Given the description of an element on the screen output the (x, y) to click on. 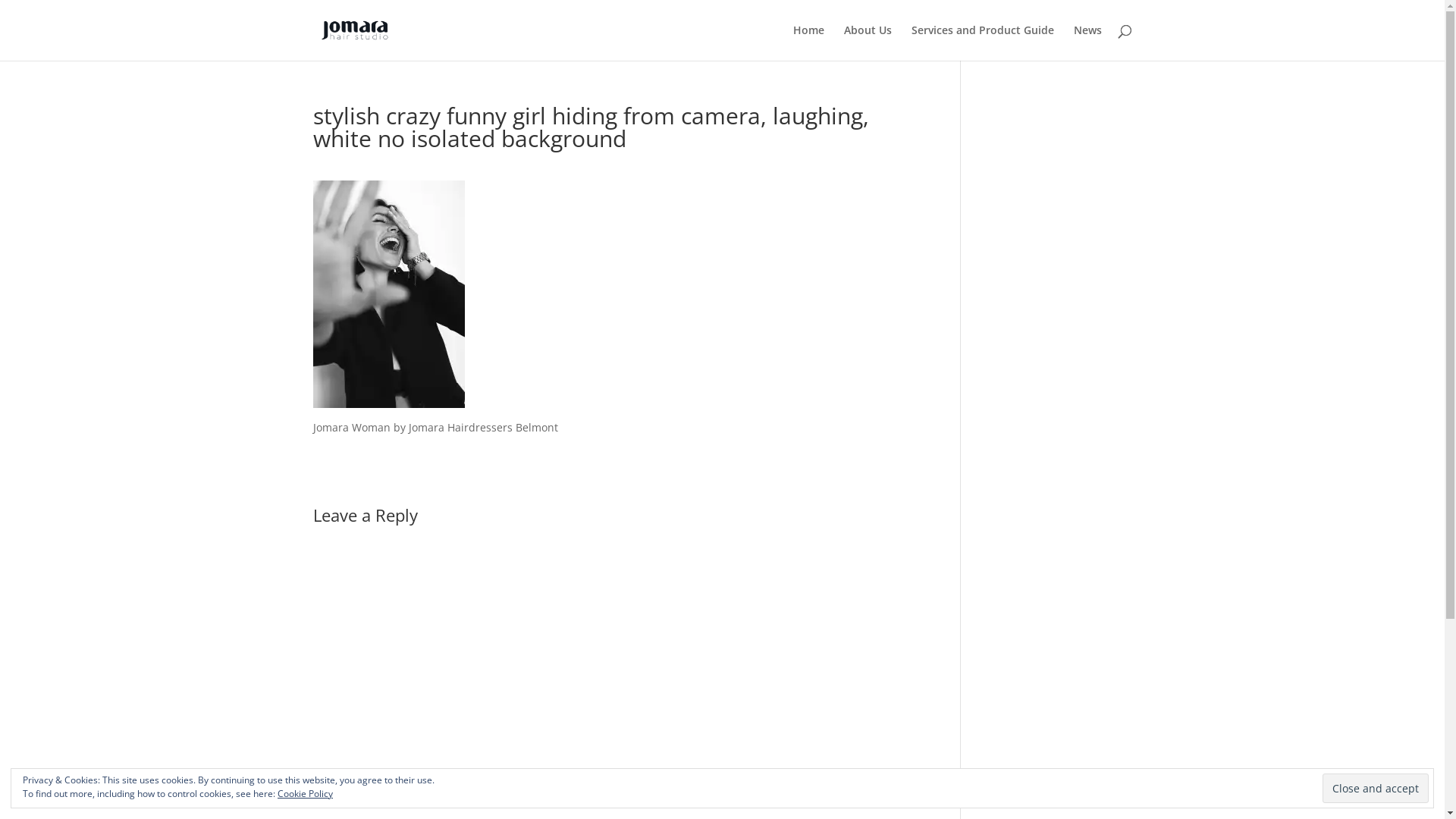
Services and Product Guide Element type: text (982, 42)
Close and accept Element type: text (1375, 788)
News Element type: text (1087, 42)
About Us Element type: text (867, 42)
Home Element type: text (808, 42)
Cookie Policy Element type: text (304, 793)
